Given the description of an element on the screen output the (x, y) to click on. 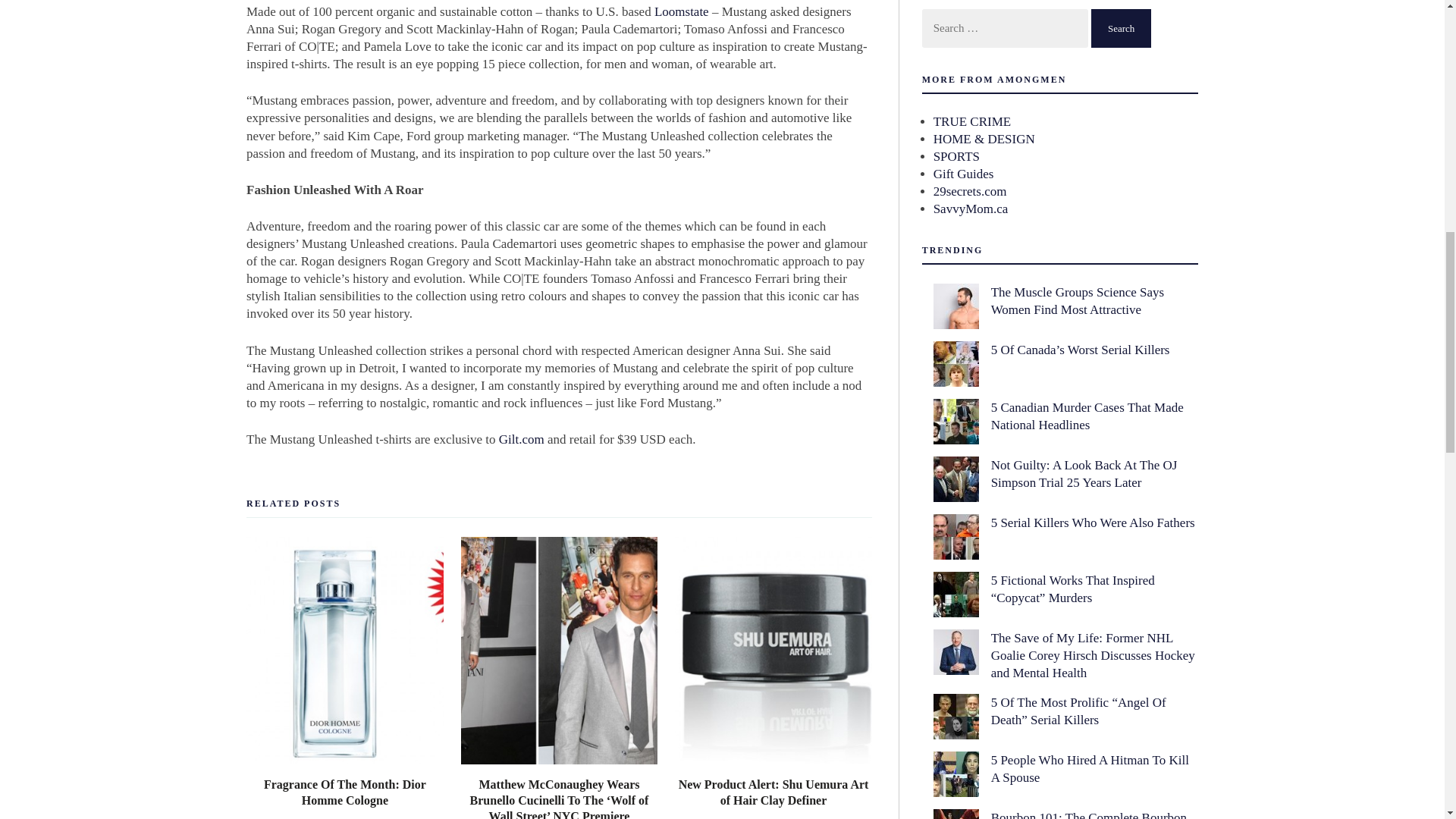
Loomstate (681, 11)
Search (1120, 28)
Fragrance Of The Month: Dior Homme Cologne (344, 792)
New Product Alert: Shu Uemura Art of Hair Clay Definer (773, 792)
Search (1120, 28)
Gilt.com (521, 439)
